Given the description of an element on the screen output the (x, y) to click on. 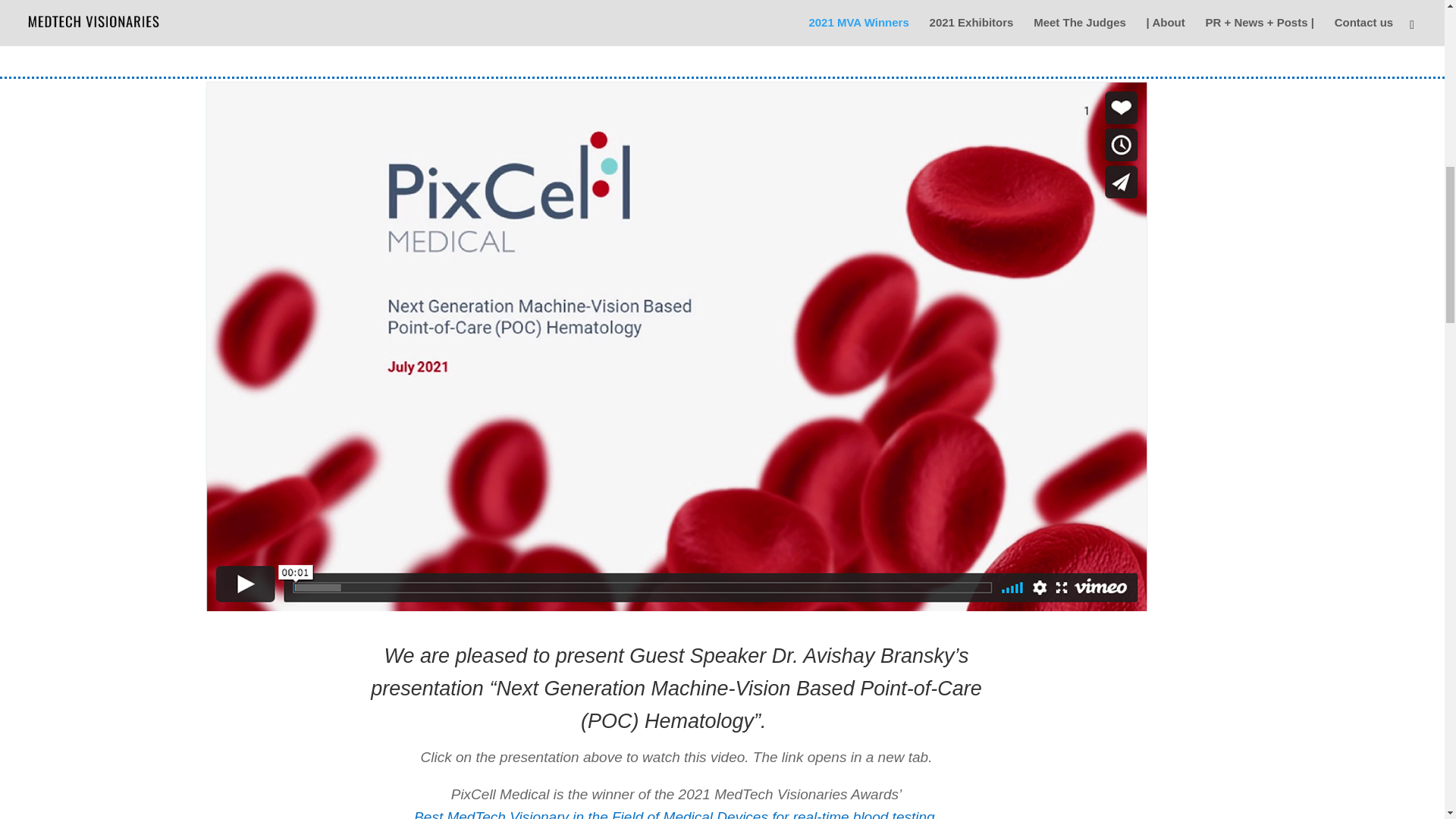
Linkedin (476, 2)
Twitter (423, 2)
Facebook (361, 2)
